Given the description of an element on the screen output the (x, y) to click on. 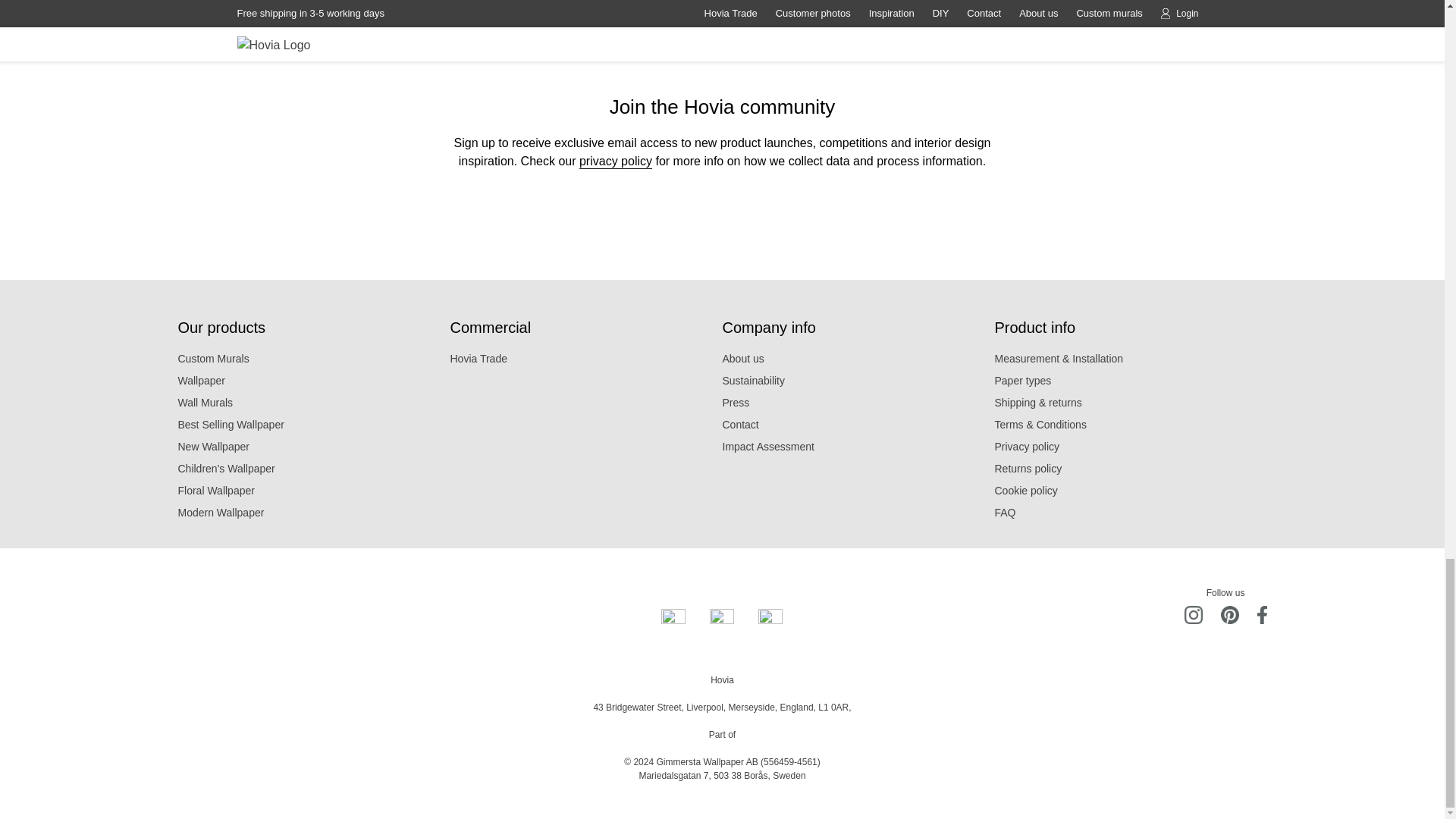
Wall Murals (313, 403)
New Wallpaper (313, 446)
Best Selling Wallpaper (313, 424)
Press (858, 403)
Hovia Trade (585, 359)
About us (858, 359)
Sustainability (858, 381)
privacy policy (615, 160)
Custom Murals (313, 359)
Modern Wallpaper (313, 513)
